Given the description of an element on the screen output the (x, y) to click on. 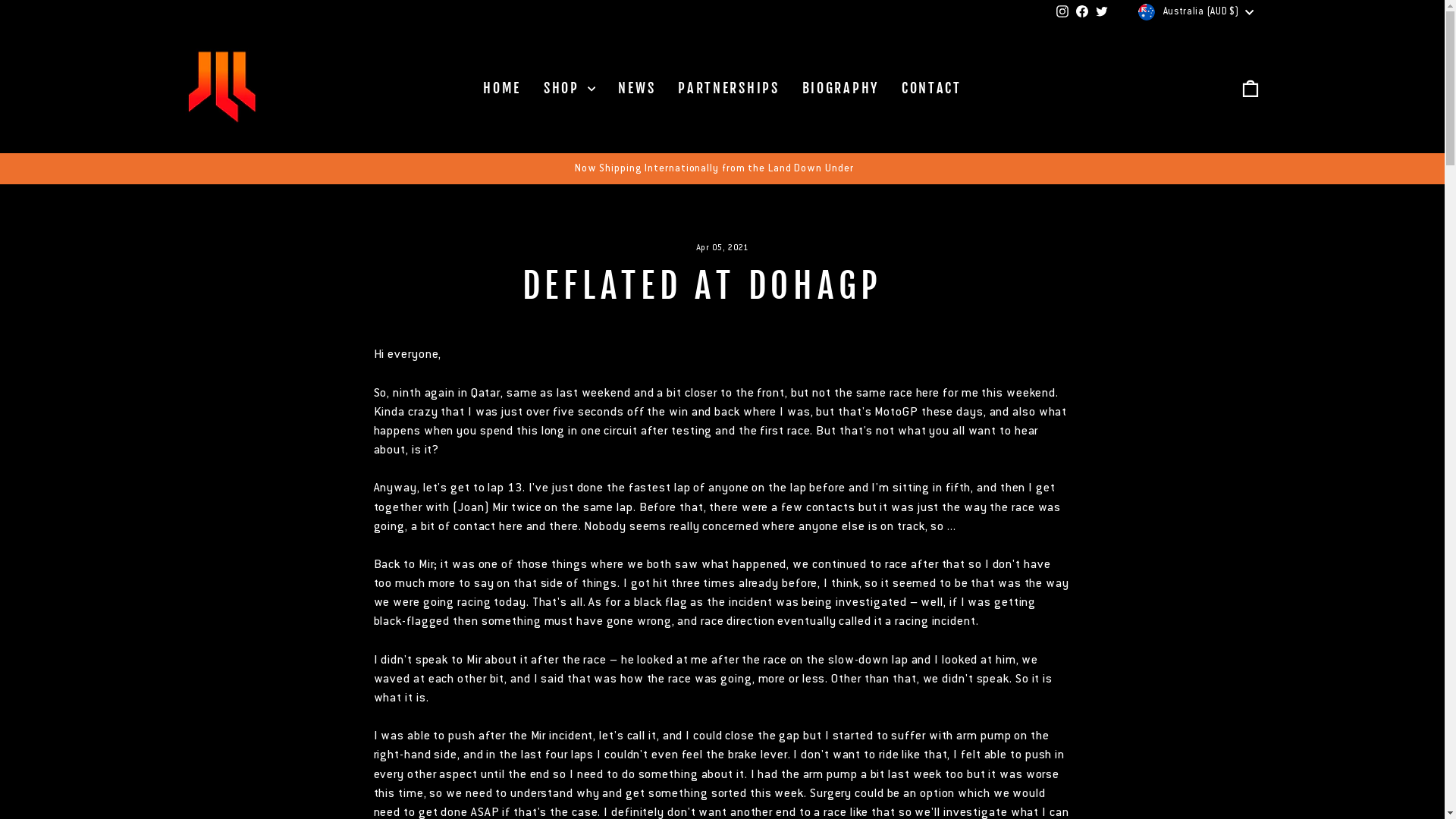
instagram
Instagram Element type: text (1062, 11)
NEWS Element type: text (636, 89)
CONTACT Element type: text (931, 89)
BIOGRAPHY Element type: text (840, 89)
Facebook Element type: text (1082, 11)
ICON-BAG-MINIMAL
CART Element type: text (1249, 88)
PARTNERSHIPS Element type: text (728, 89)
Australia (AUD $) Element type: text (1197, 12)
HOME Element type: text (501, 89)
twitter
Twitter Element type: text (1101, 11)
